Given the description of an element on the screen output the (x, y) to click on. 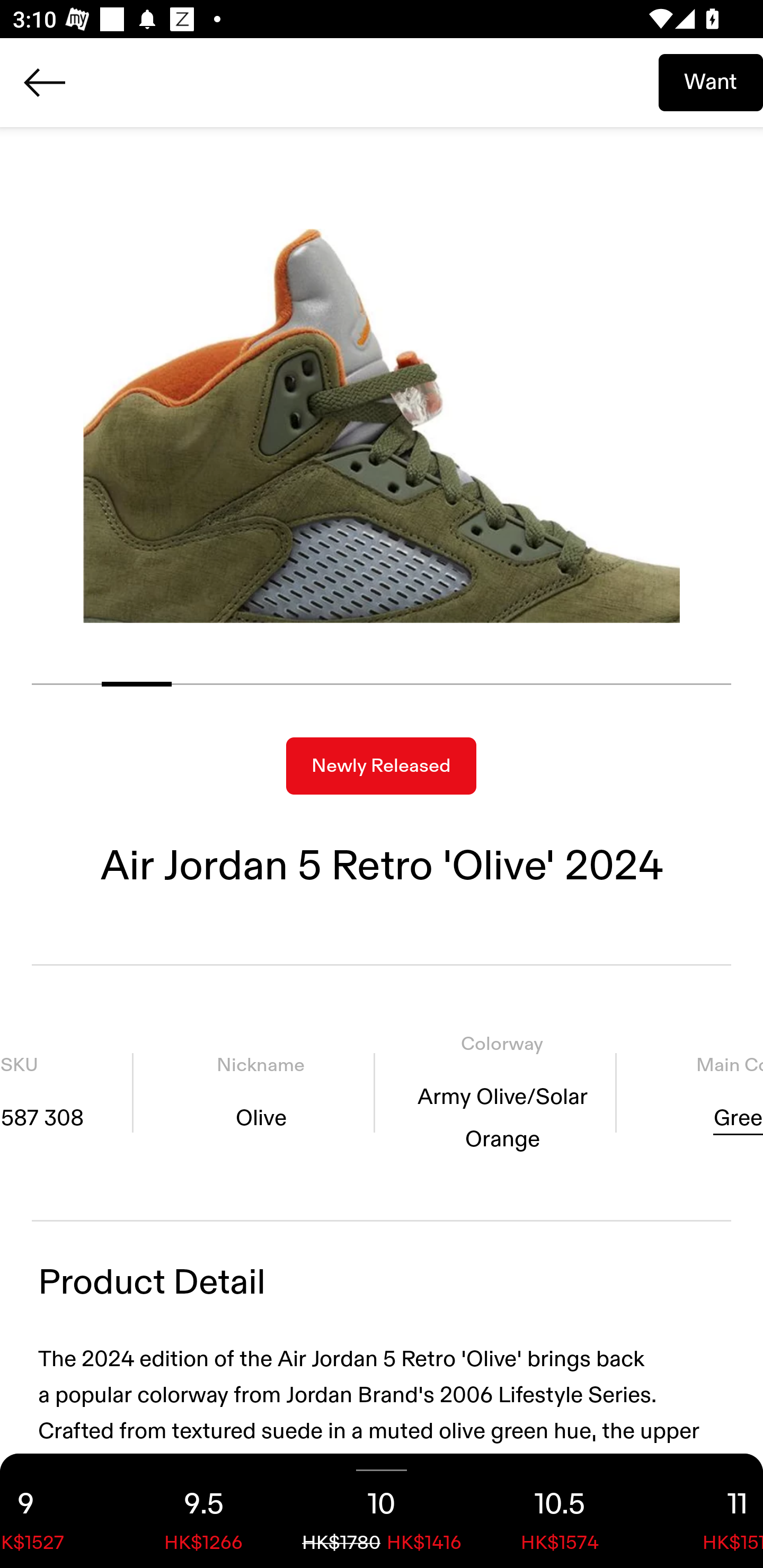
Want (710, 82)
Newly Released (381, 765)
Nickname Olive (260, 1092)
Colorway Army Olive/Solar Orange (501, 1092)
9 HK$1527 (57, 1510)
9.5 HK$1266 (203, 1510)
10 HK$1780 HK$1416 (381, 1510)
10.5 HK$1574 (559, 1510)
11 HK$1511 (705, 1510)
